Given the description of an element on the screen output the (x, y) to click on. 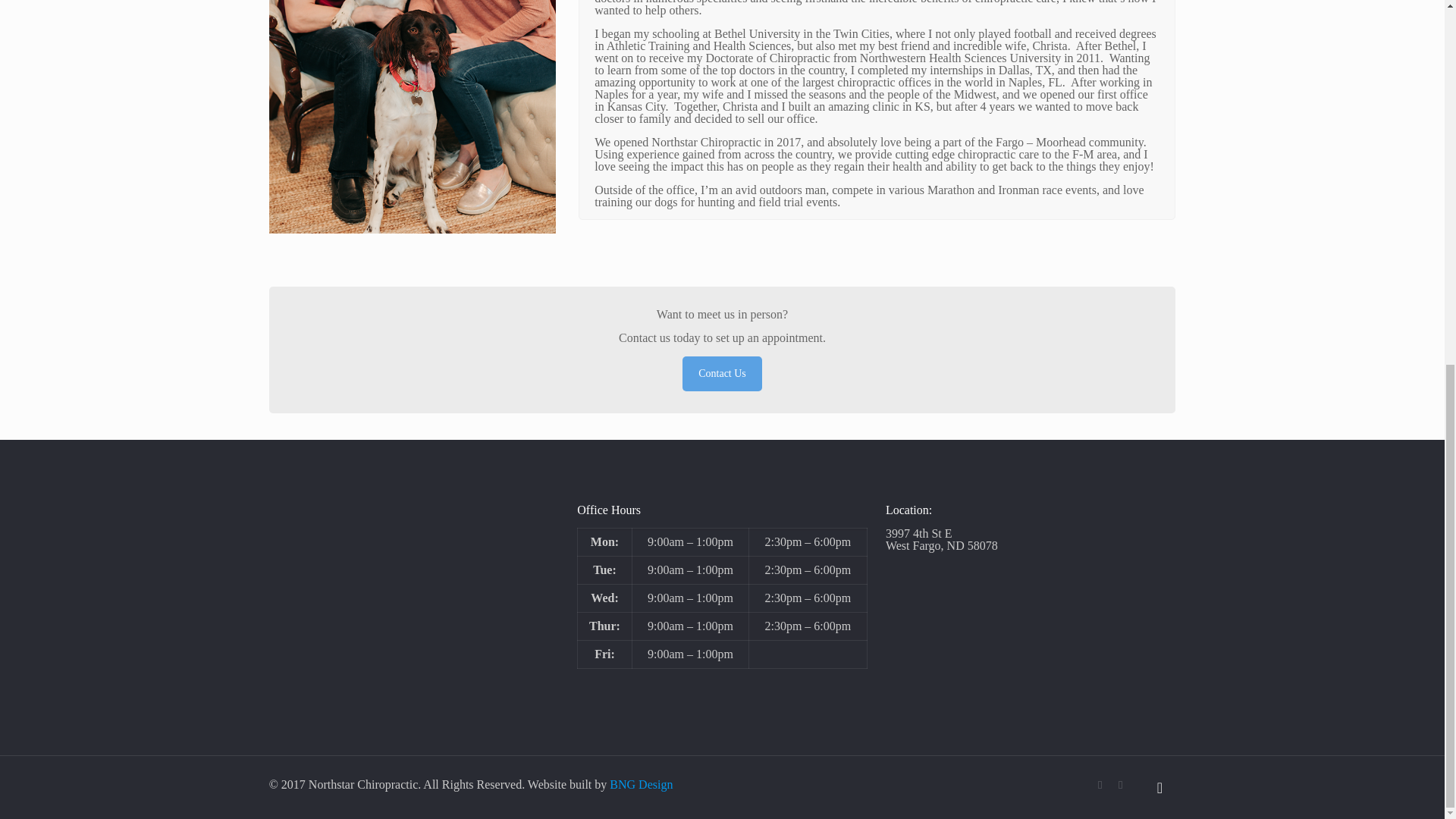
Contact Us (721, 373)
Facebook (1100, 784)
Contact Us (721, 373)
BNG Design (641, 784)
Instagram (1120, 784)
